Given the description of an element on the screen output the (x, y) to click on. 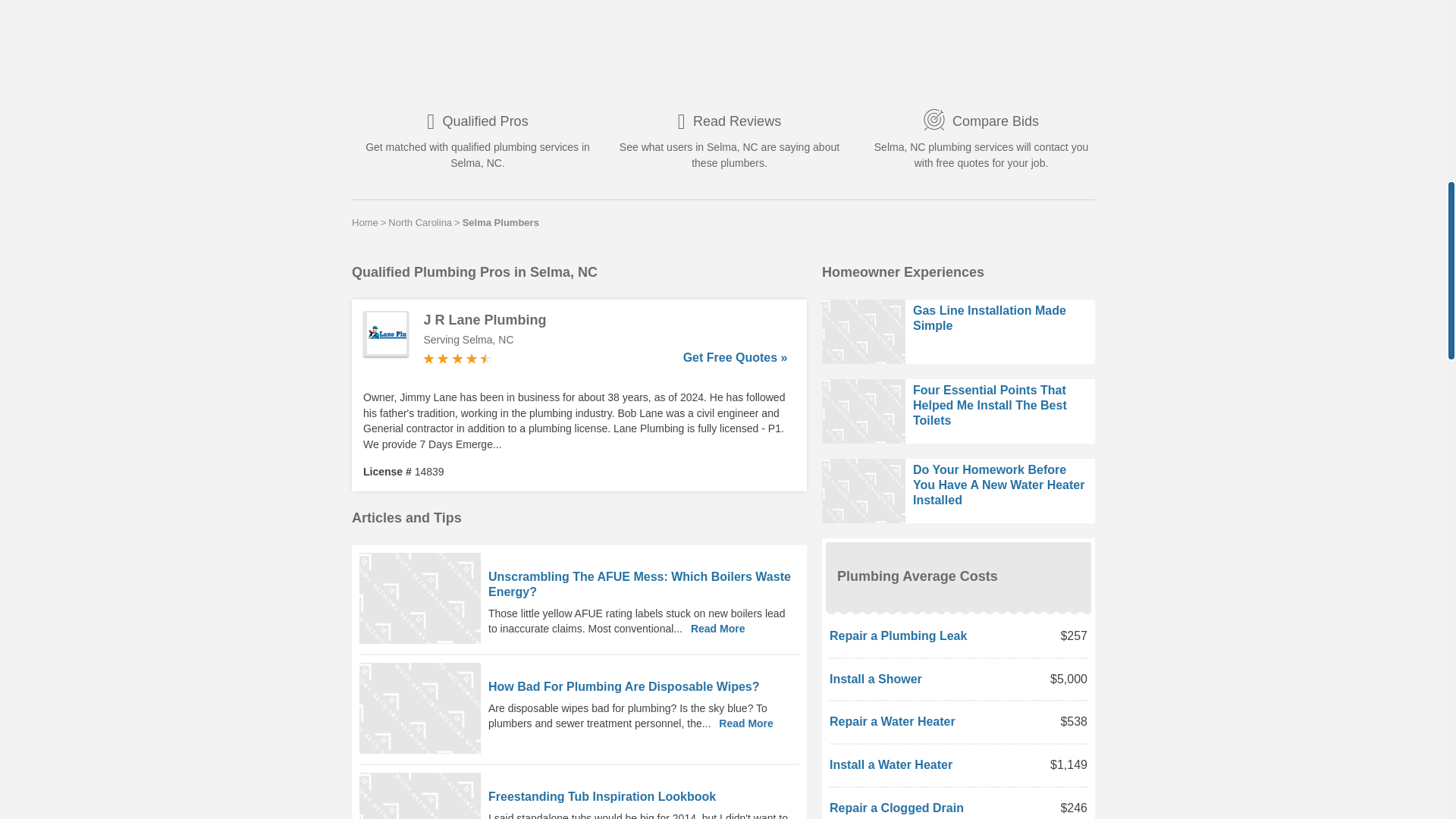
Home (365, 222)
4.5 star rating (457, 358)
North Carolina (419, 222)
J R Lane Plumbing (605, 320)
